Given the description of an element on the screen output the (x, y) to click on. 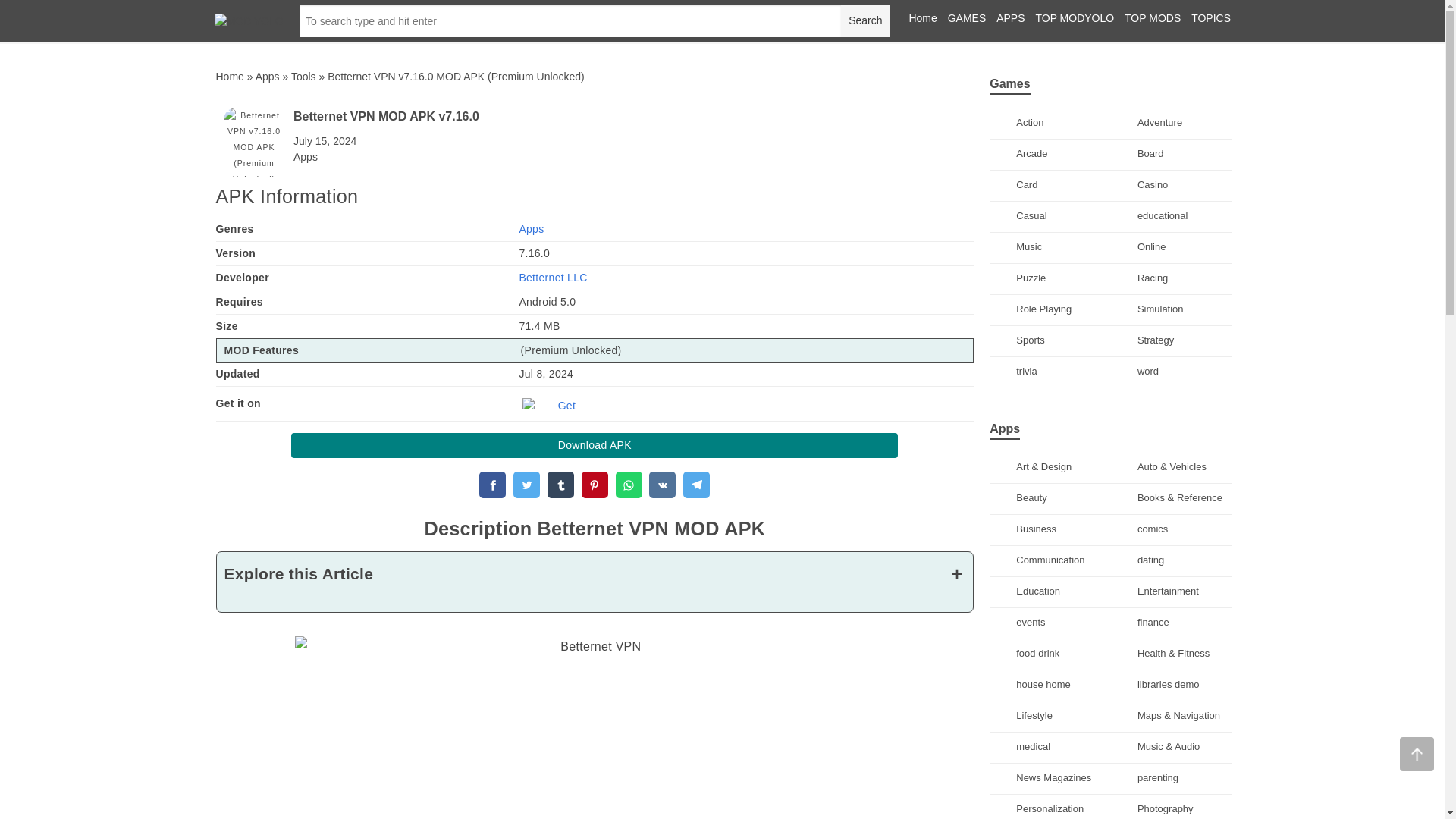
TOP MODYOLO (1074, 18)
TOPICS (1210, 18)
GAMES (967, 18)
Apps (267, 76)
Home (229, 76)
Tools (303, 76)
Tumblr (560, 484)
TOP MODS (1152, 18)
Telegram (696, 484)
WhatsApp (628, 484)
